Given the description of an element on the screen output the (x, y) to click on. 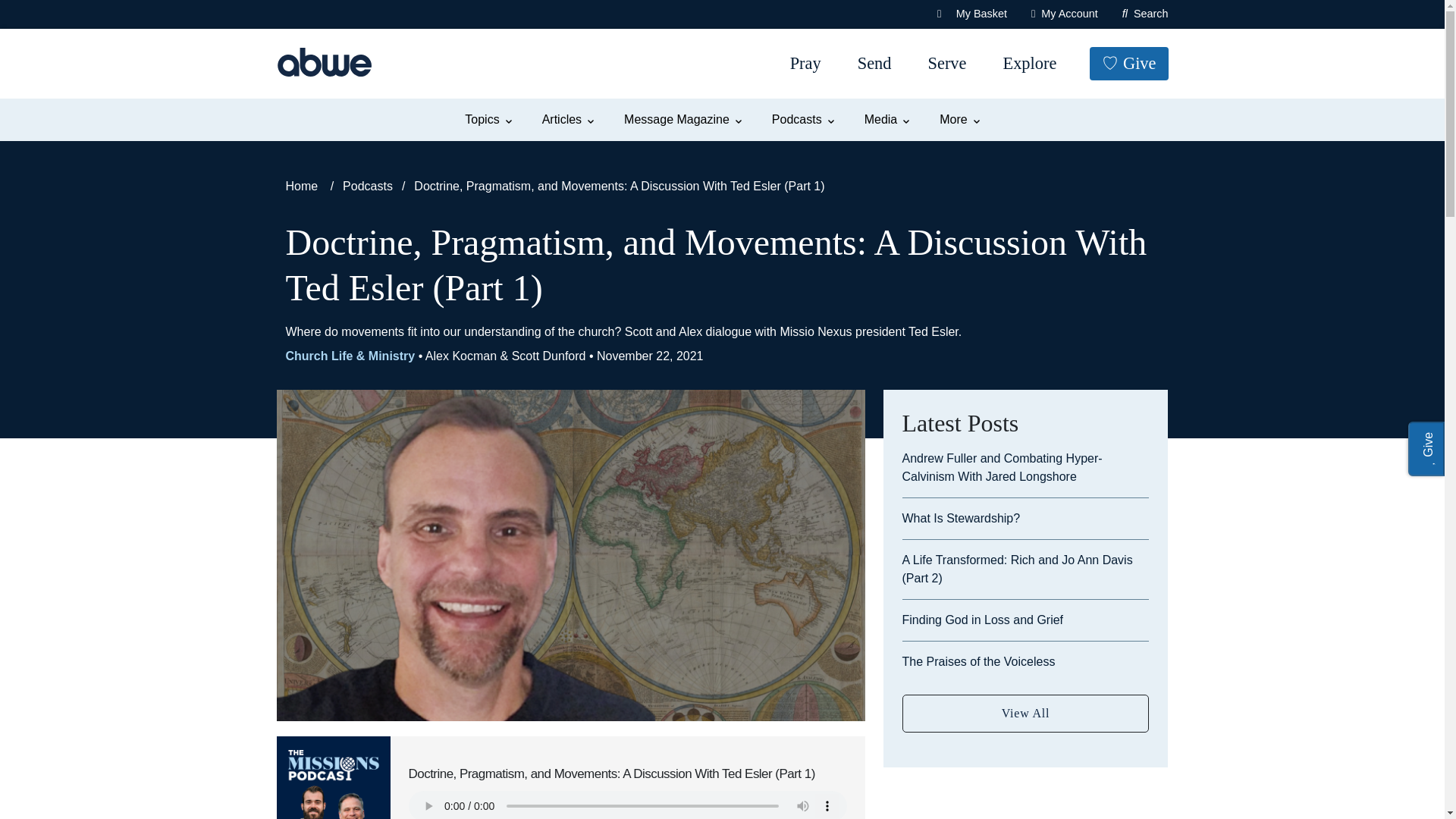
Topics (487, 119)
Serve (946, 63)
Pray (805, 63)
Explore (1028, 63)
Search (64, 18)
Search (1145, 14)
Message Magazine (682, 119)
Message Magazine (682, 119)
Topics (487, 119)
Send (874, 63)
